Given the description of an element on the screen output the (x, y) to click on. 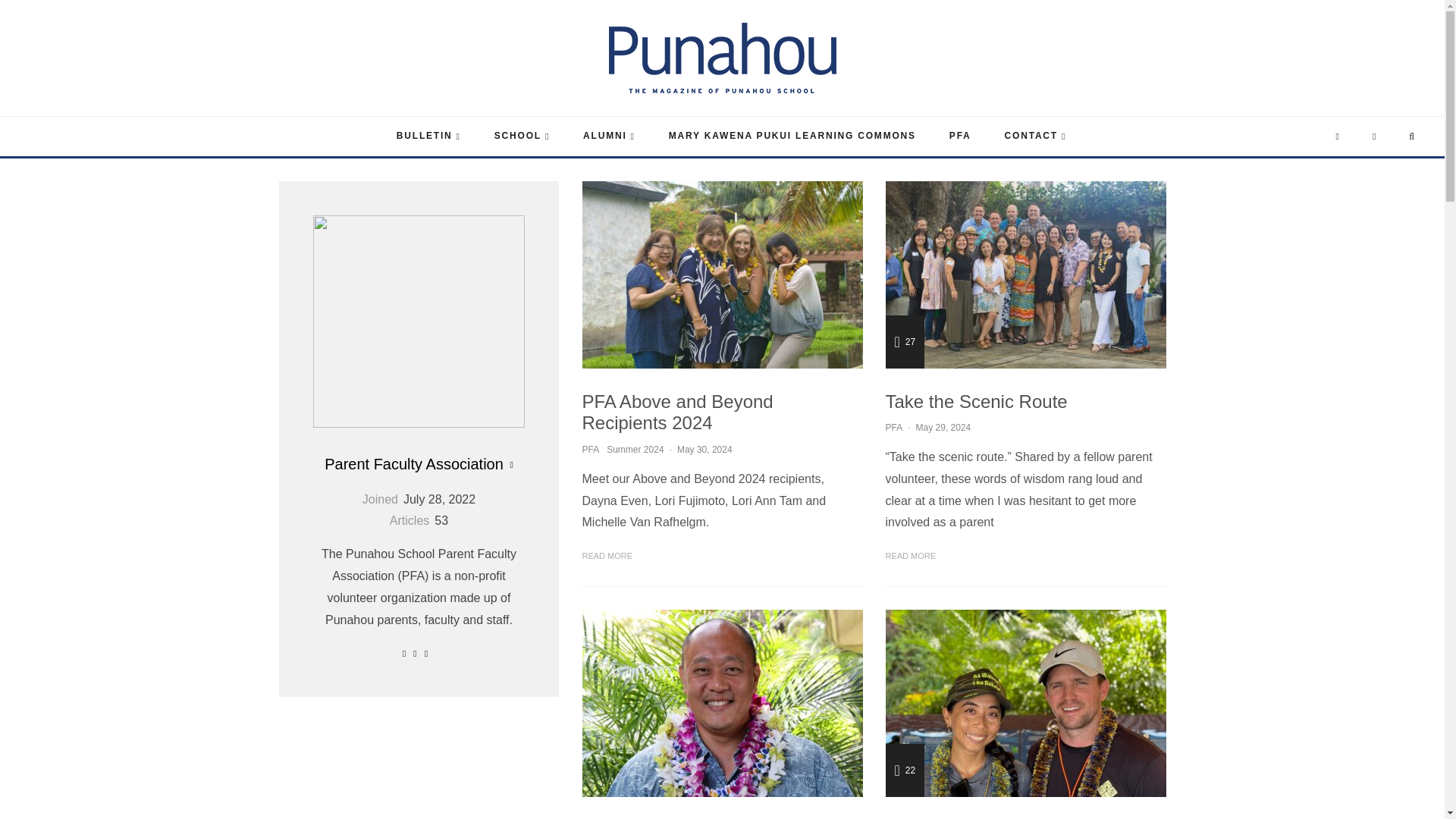
BULLETIN (428, 136)
SCHOOL (521, 136)
